Given the description of an element on the screen output the (x, y) to click on. 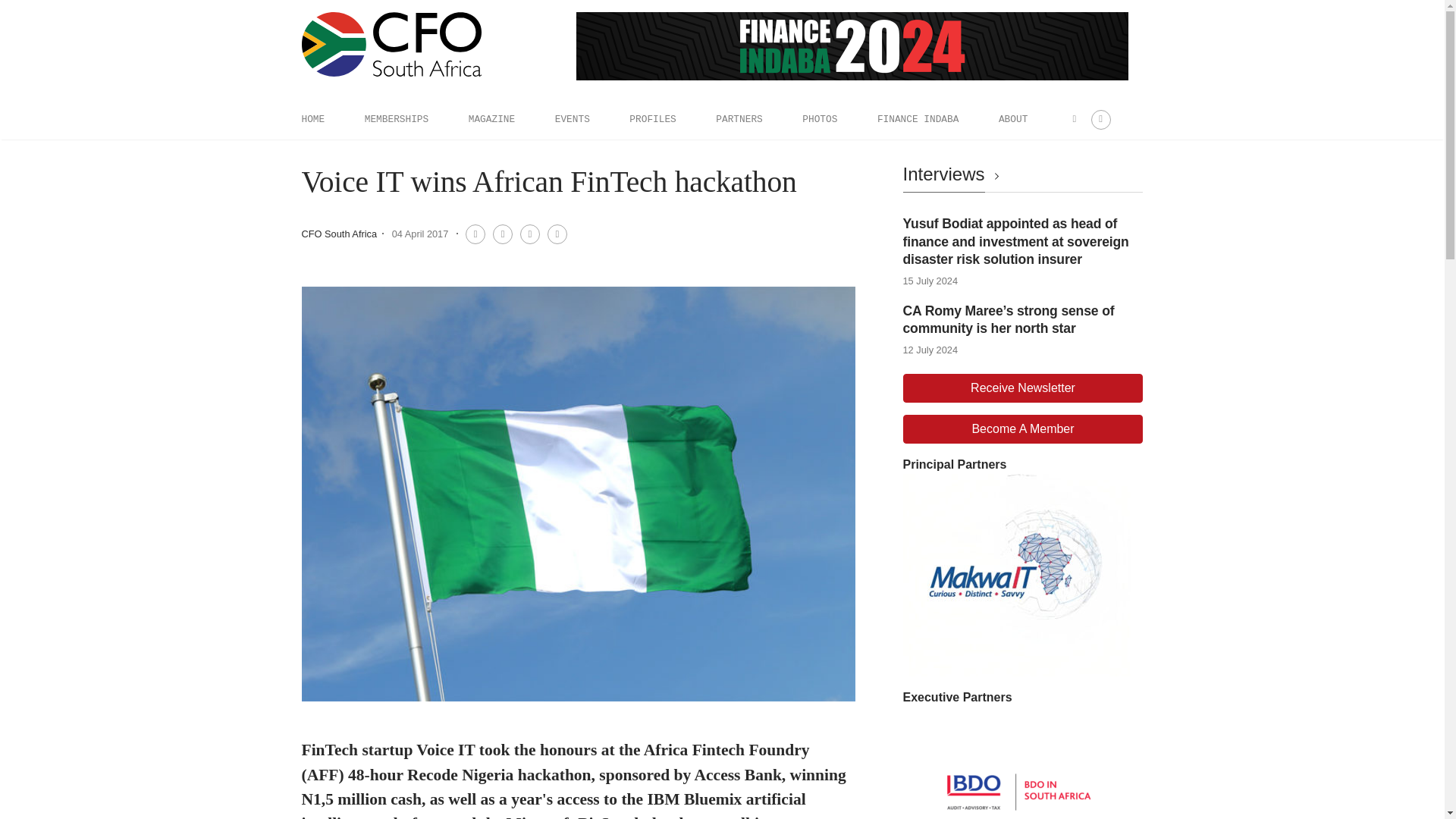
FINANCE INDABA (918, 119)
Interviews (953, 173)
MAGAZINE (491, 119)
CFO South Africa (339, 233)
MEMBERSHIPS (396, 119)
EVENTS (571, 119)
HOME (312, 119)
Become A Member (1022, 428)
Receive Newsletter (1022, 387)
PARTNERS (738, 119)
ABOUT (1012, 119)
PHOTOS (819, 119)
PROFILES (651, 119)
